Given the description of an element on the screen output the (x, y) to click on. 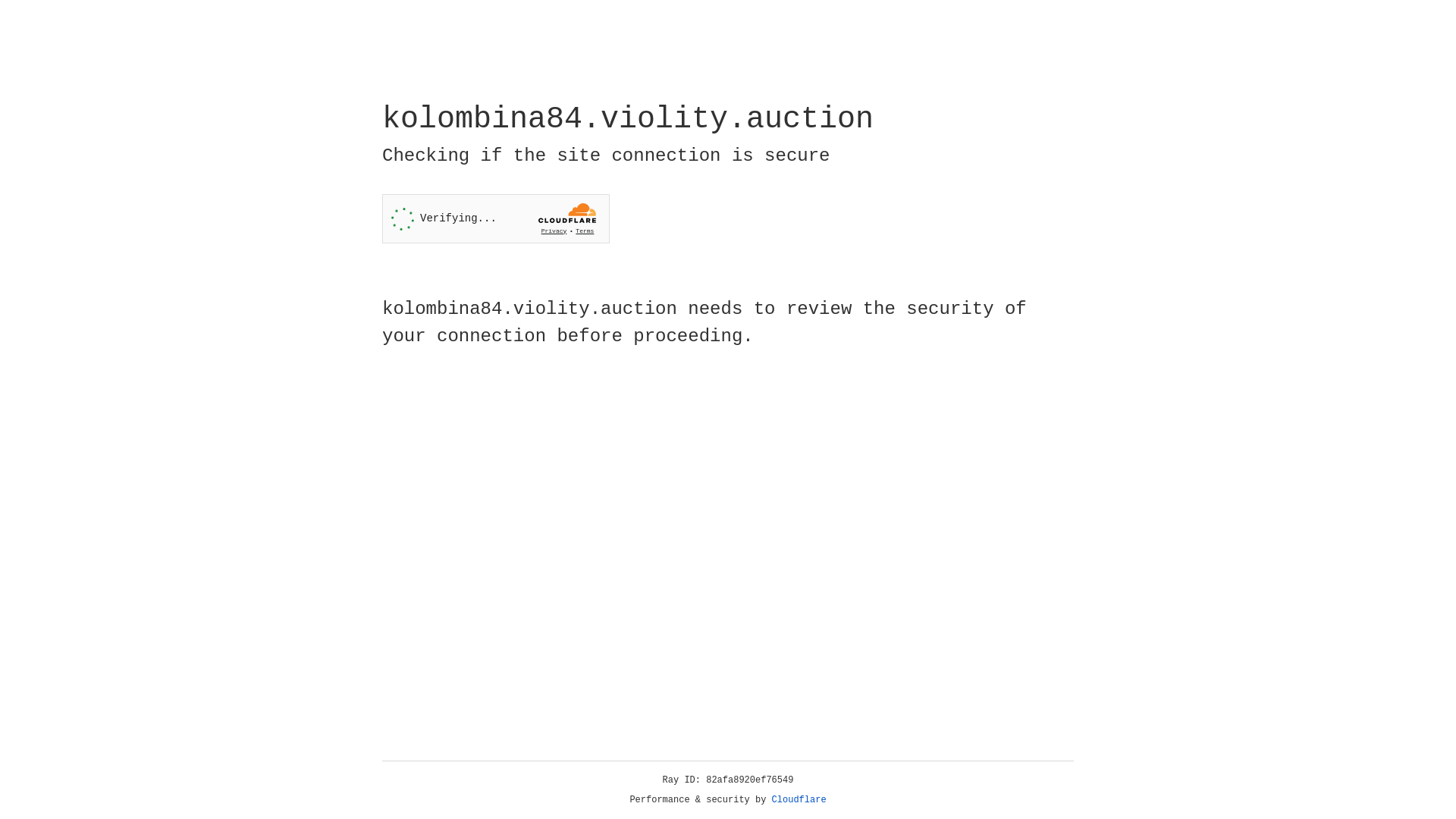
Cloudflare Element type: text (798, 799)
Widget containing a Cloudflare security challenge Element type: hover (495, 218)
